Given the description of an element on the screen output the (x, y) to click on. 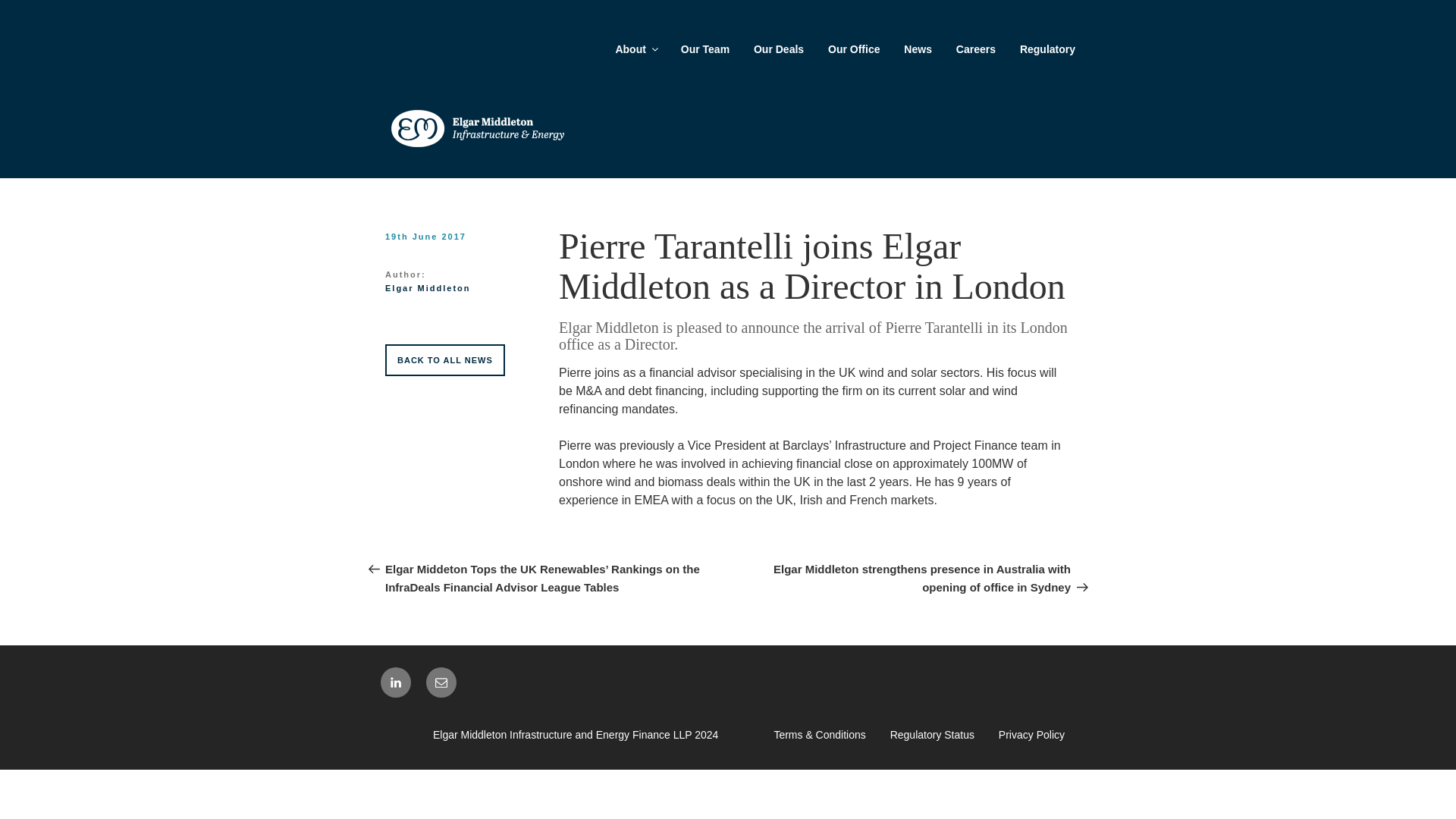
Careers (975, 49)
Our Team (704, 49)
Our Deals (777, 49)
News (917, 49)
E-mail (441, 682)
Regulatory Status (931, 734)
About (635, 49)
Privacy Policy (1031, 734)
ELGAR MIDDLETON (481, 185)
Our Office (852, 49)
